Given the description of an element on the screen output the (x, y) to click on. 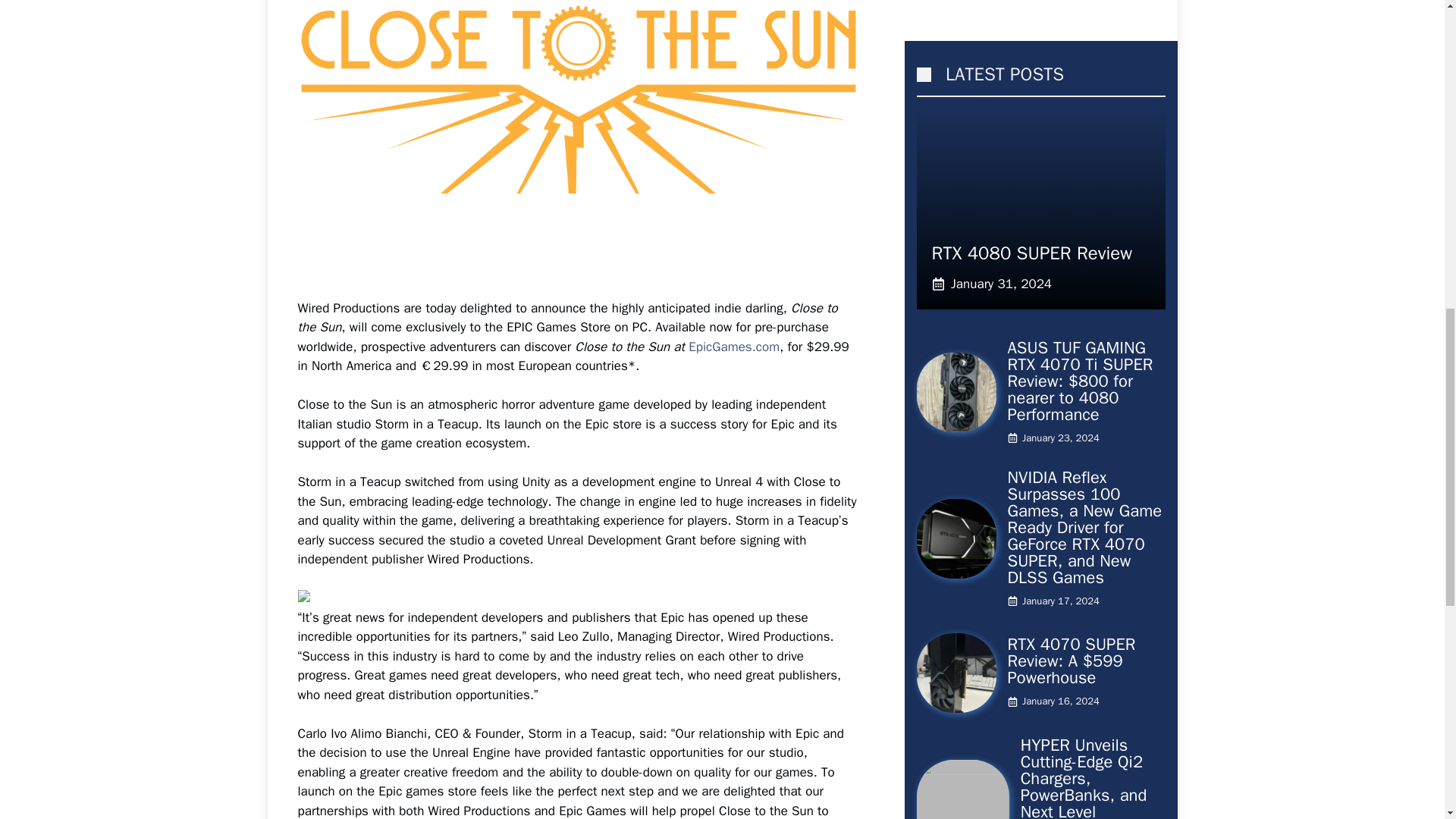
Scroll back to top (1406, 720)
EpicGames.com (733, 346)
